Given the description of an element on the screen output the (x, y) to click on. 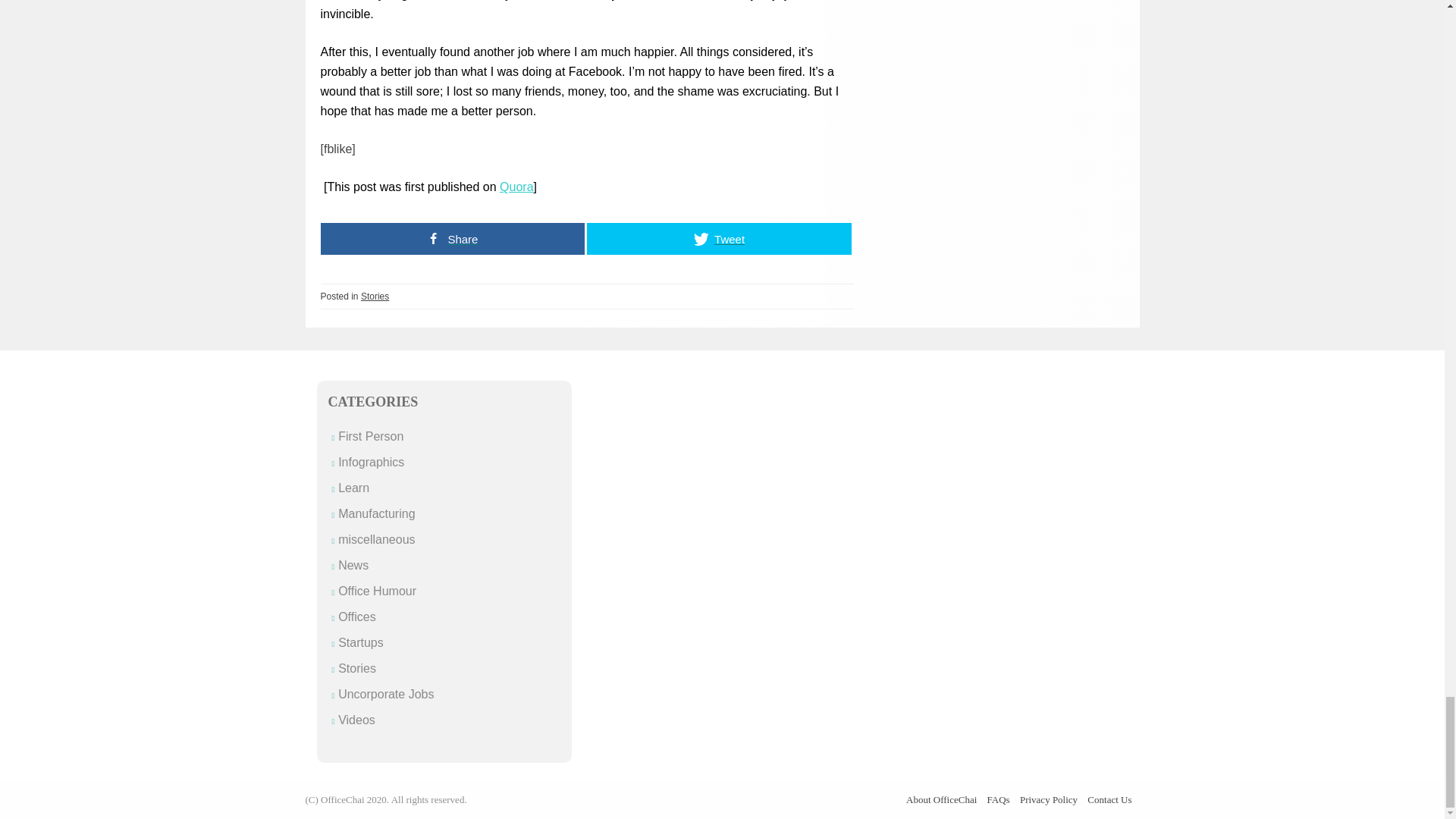
Tweet (718, 238)
Uncorporate Jobs (385, 694)
miscellaneous (375, 539)
News (352, 564)
Videos (356, 719)
Learn (353, 487)
First Person (370, 436)
Manufacturing (375, 513)
Office Humour (376, 590)
Share (452, 238)
Infographics (370, 461)
Quora (515, 186)
Startups (360, 642)
Offices (356, 616)
Stories (374, 296)
